Given the description of an element on the screen output the (x, y) to click on. 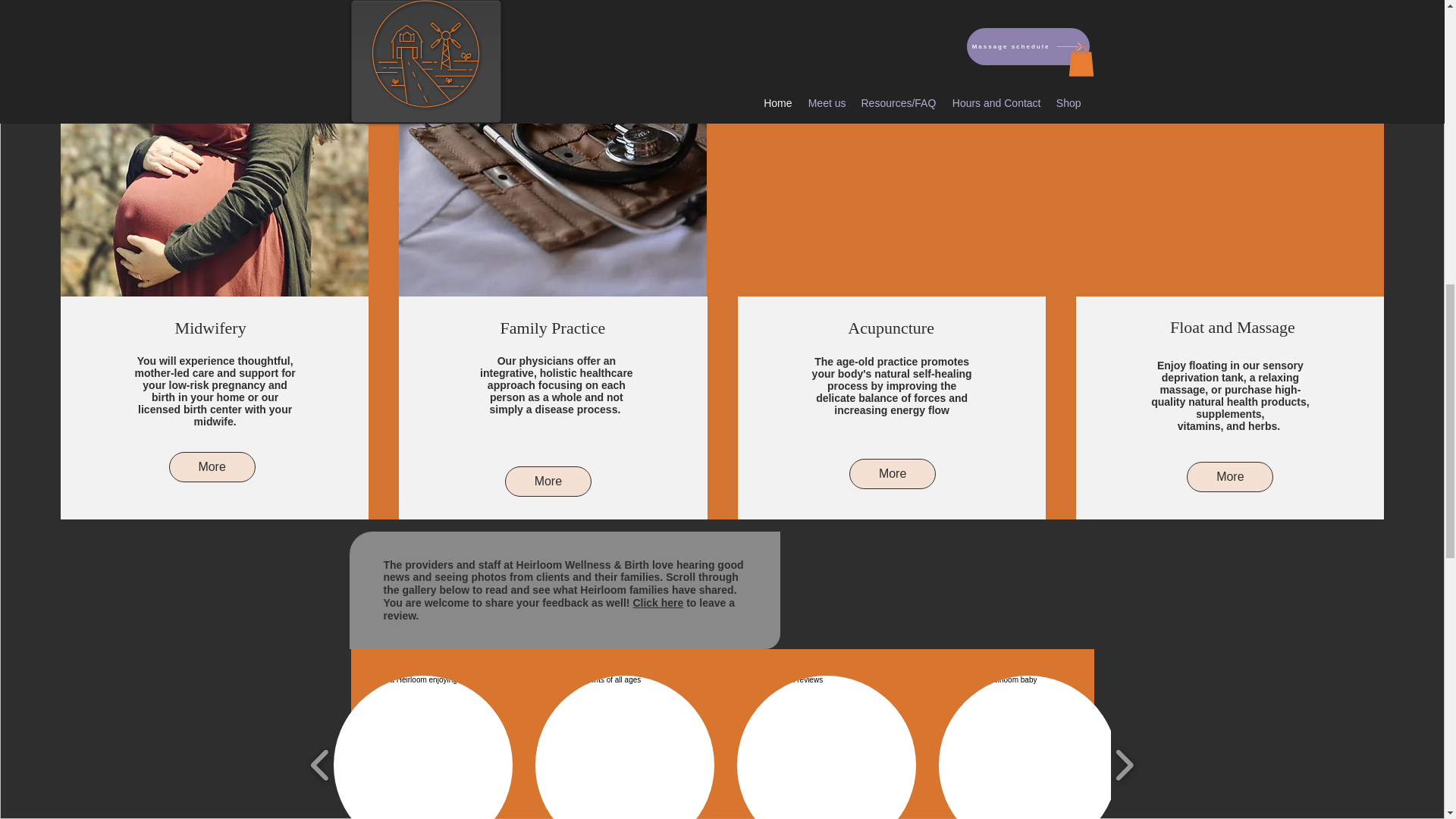
Click here (656, 603)
More (892, 473)
More (212, 467)
More (548, 481)
More (1229, 476)
